Given the description of an element on the screen output the (x, y) to click on. 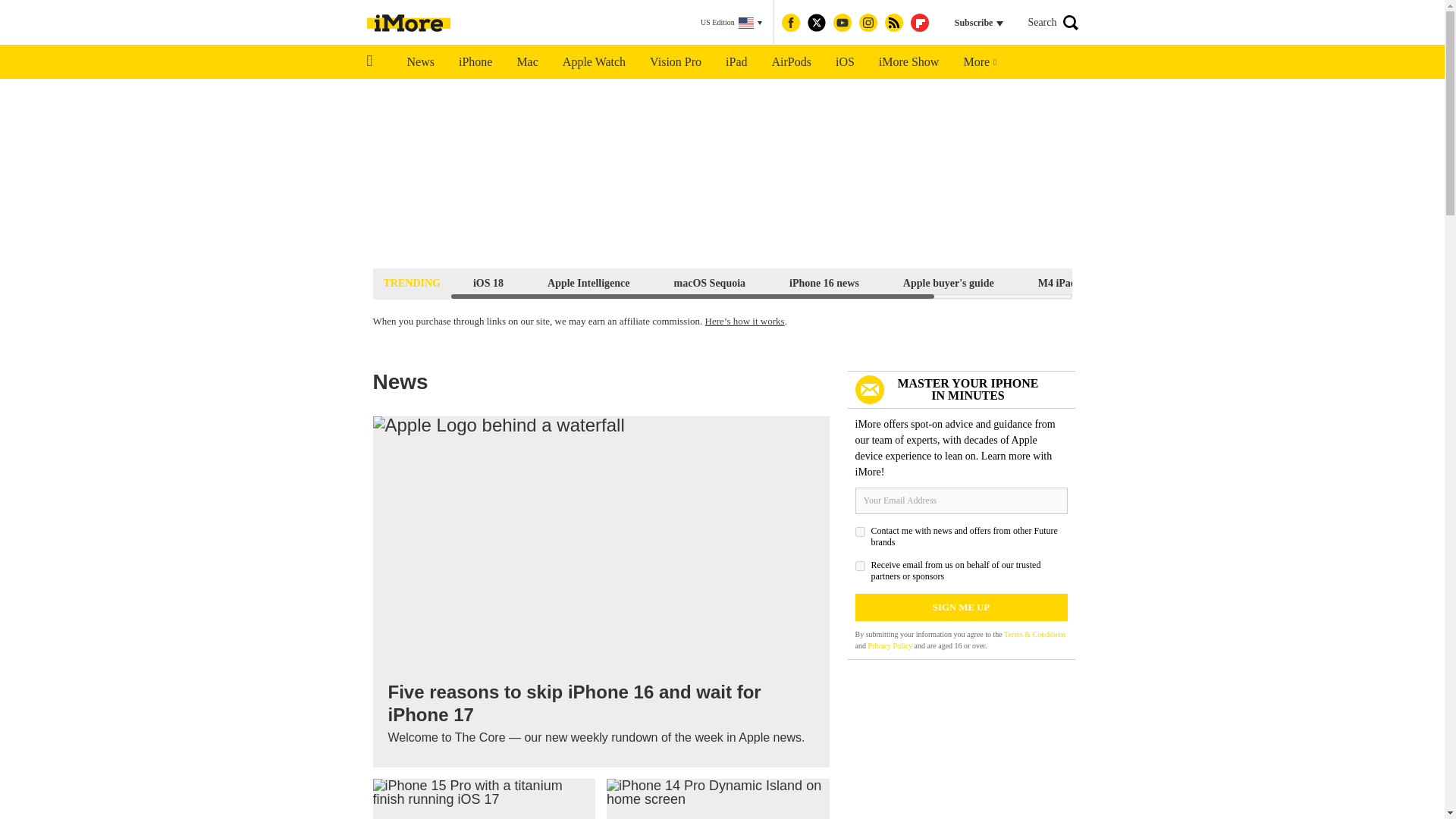
on (860, 532)
US Edition (731, 22)
on (860, 565)
AirPods (792, 61)
iPhone (474, 61)
News (419, 61)
Mac (526, 61)
Apple Watch (593, 61)
iMore Show (909, 61)
Vision Pro (675, 61)
iPad (735, 61)
iOS (845, 61)
Sign me up (961, 606)
